Given the description of an element on the screen output the (x, y) to click on. 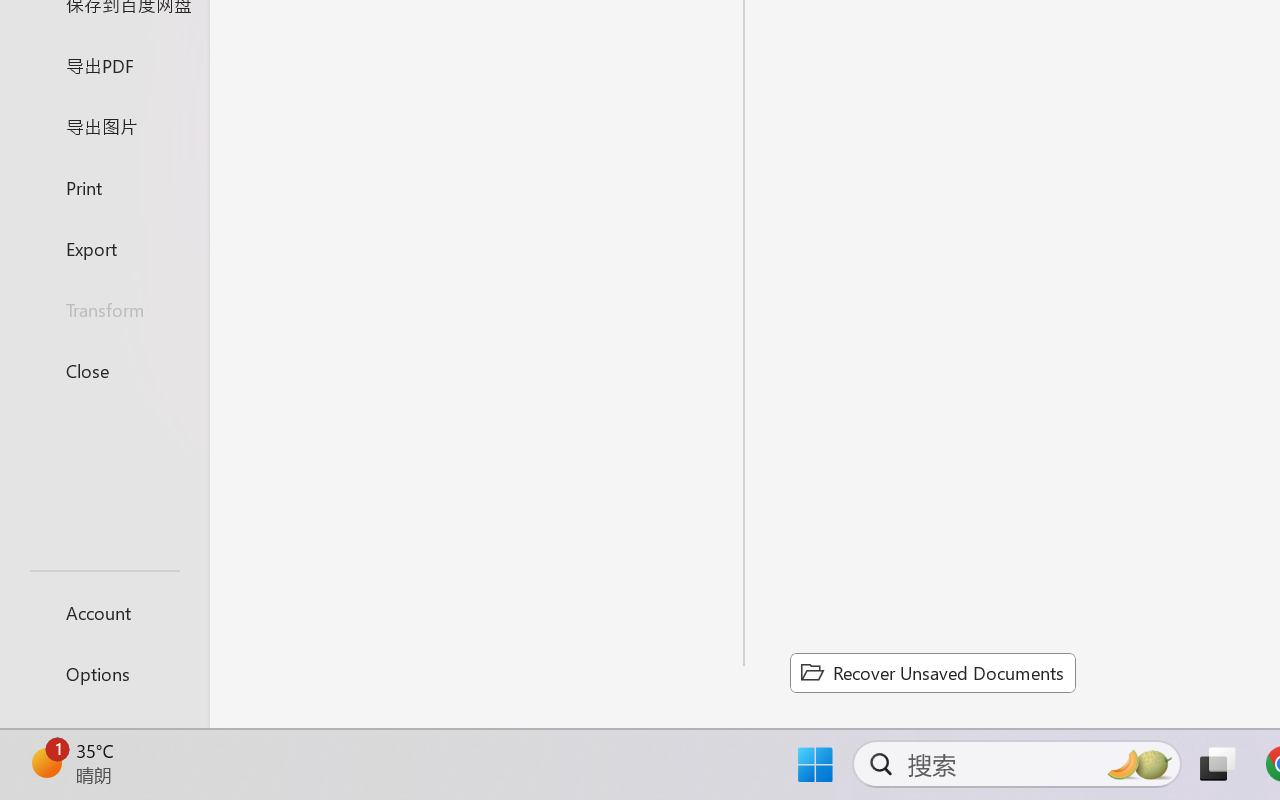
Transform (104, 309)
Print (104, 186)
Options (104, 673)
Export (104, 248)
Recover Unsaved Documents (932, 672)
Account (104, 612)
